Given the description of an element on the screen output the (x, y) to click on. 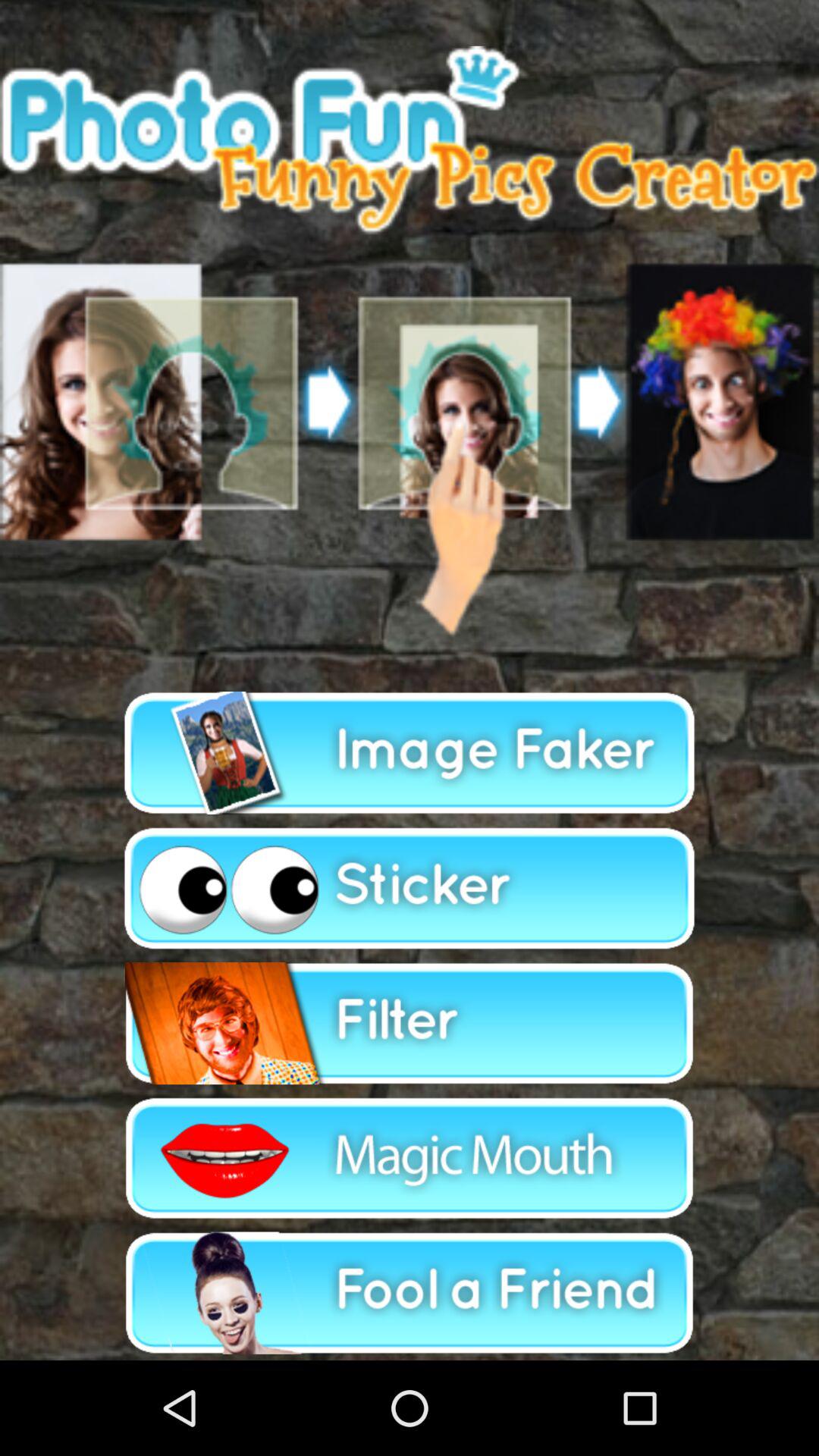
image faker button (409, 752)
